Given the description of an element on the screen output the (x, y) to click on. 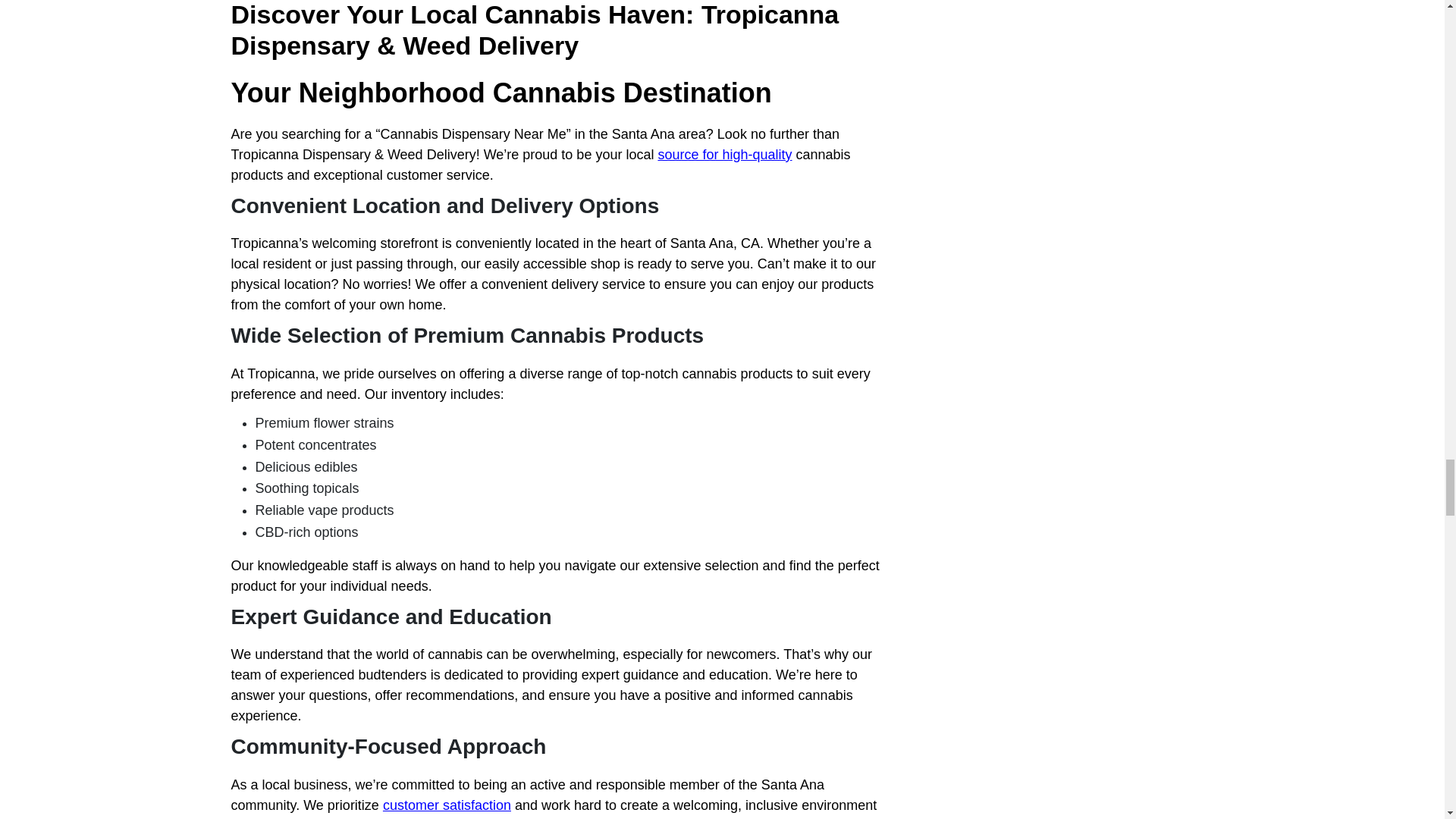
customer satisfaction (446, 805)
source for high-quality (725, 154)
